Given the description of an element on the screen output the (x, y) to click on. 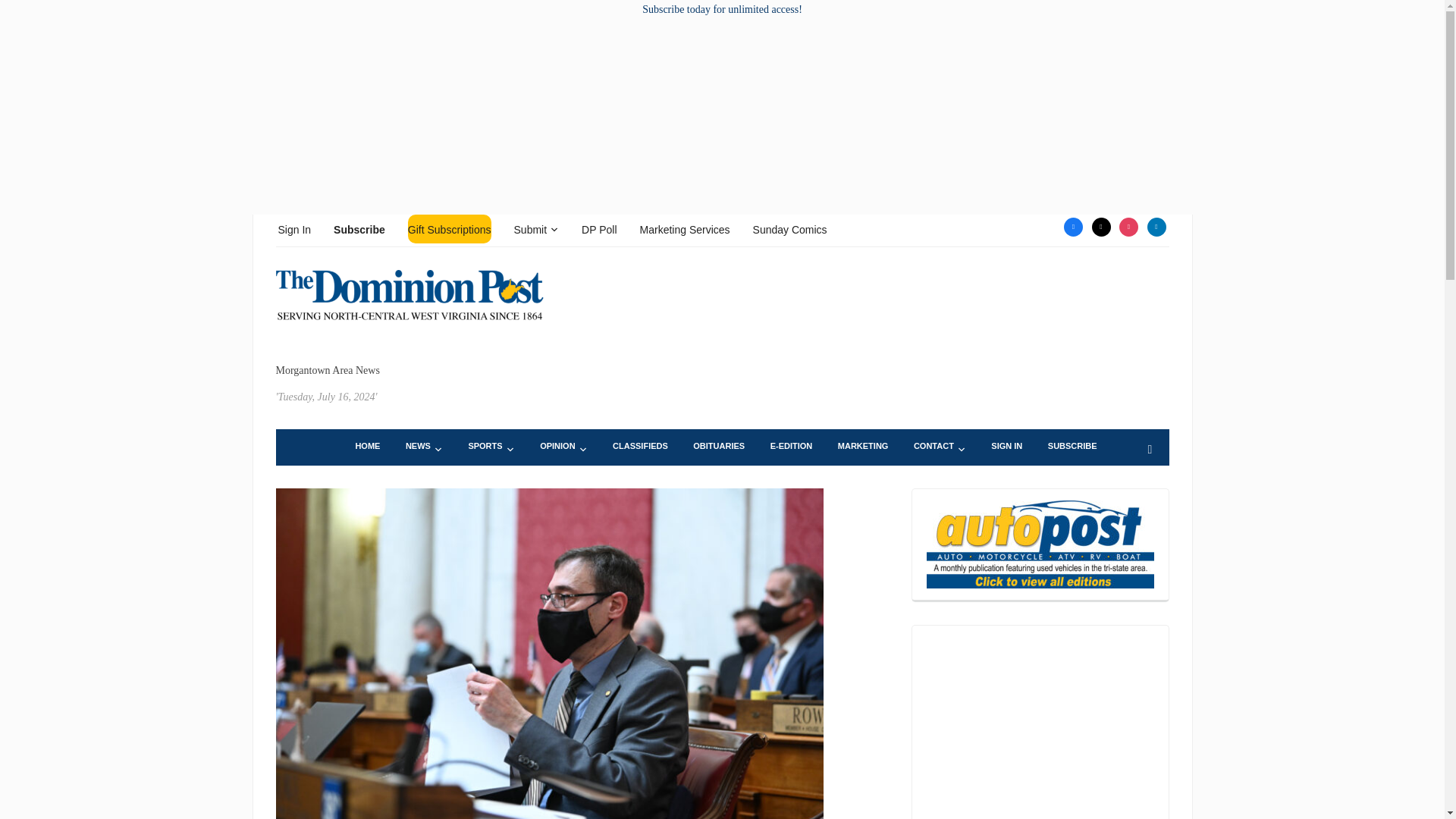
Instagram (1128, 225)
3rd party ad content (1040, 728)
Facebook (1073, 225)
Twitter (1101, 225)
3rd party ad content (893, 315)
